Given the description of an element on the screen output the (x, y) to click on. 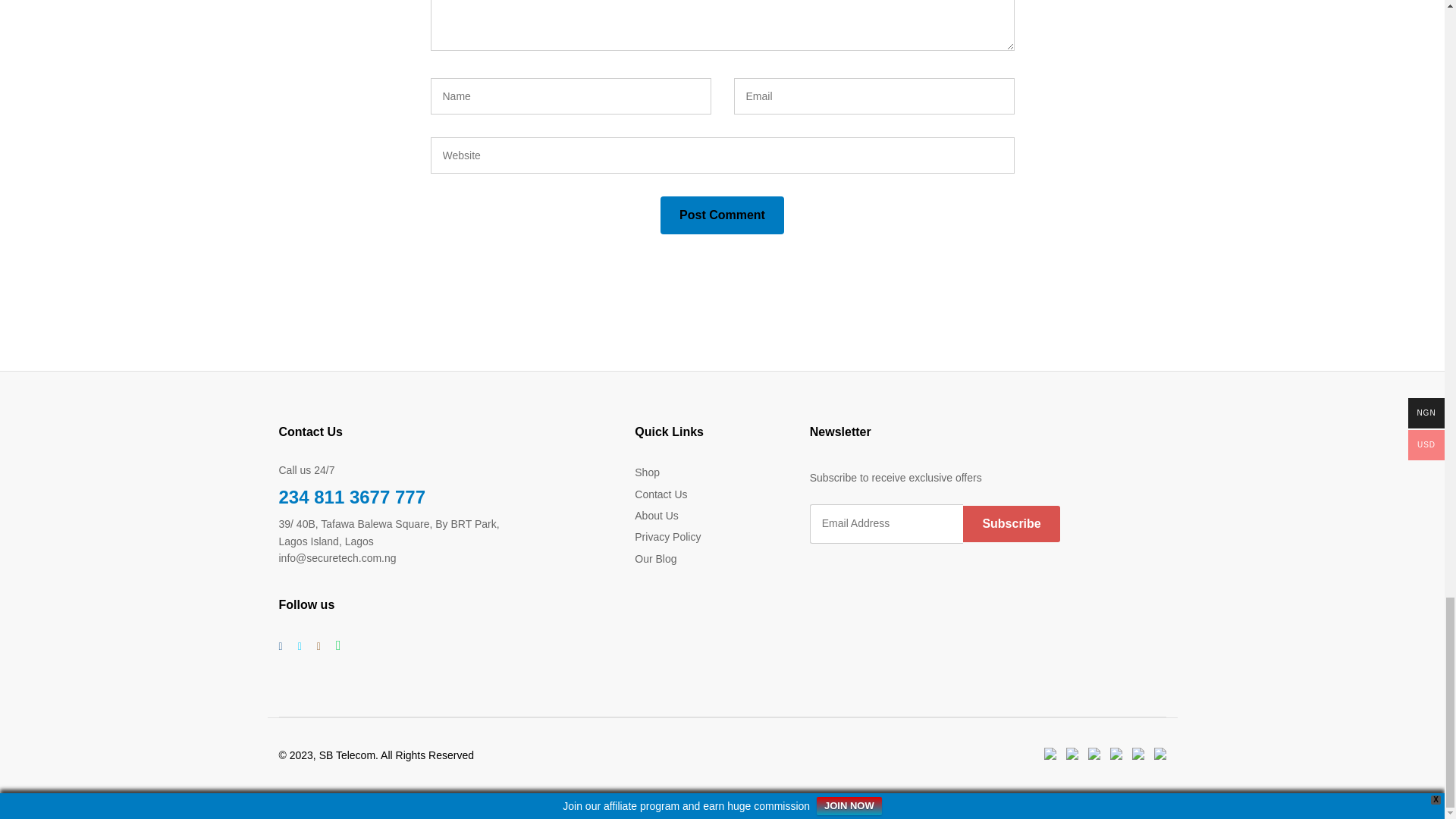
Whatsapp (339, 645)
Facebook (279, 646)
Instagram (318, 646)
Twitter (298, 646)
Post Comment (722, 215)
Subscribe (1010, 524)
